Given the description of an element on the screen output the (x, y) to click on. 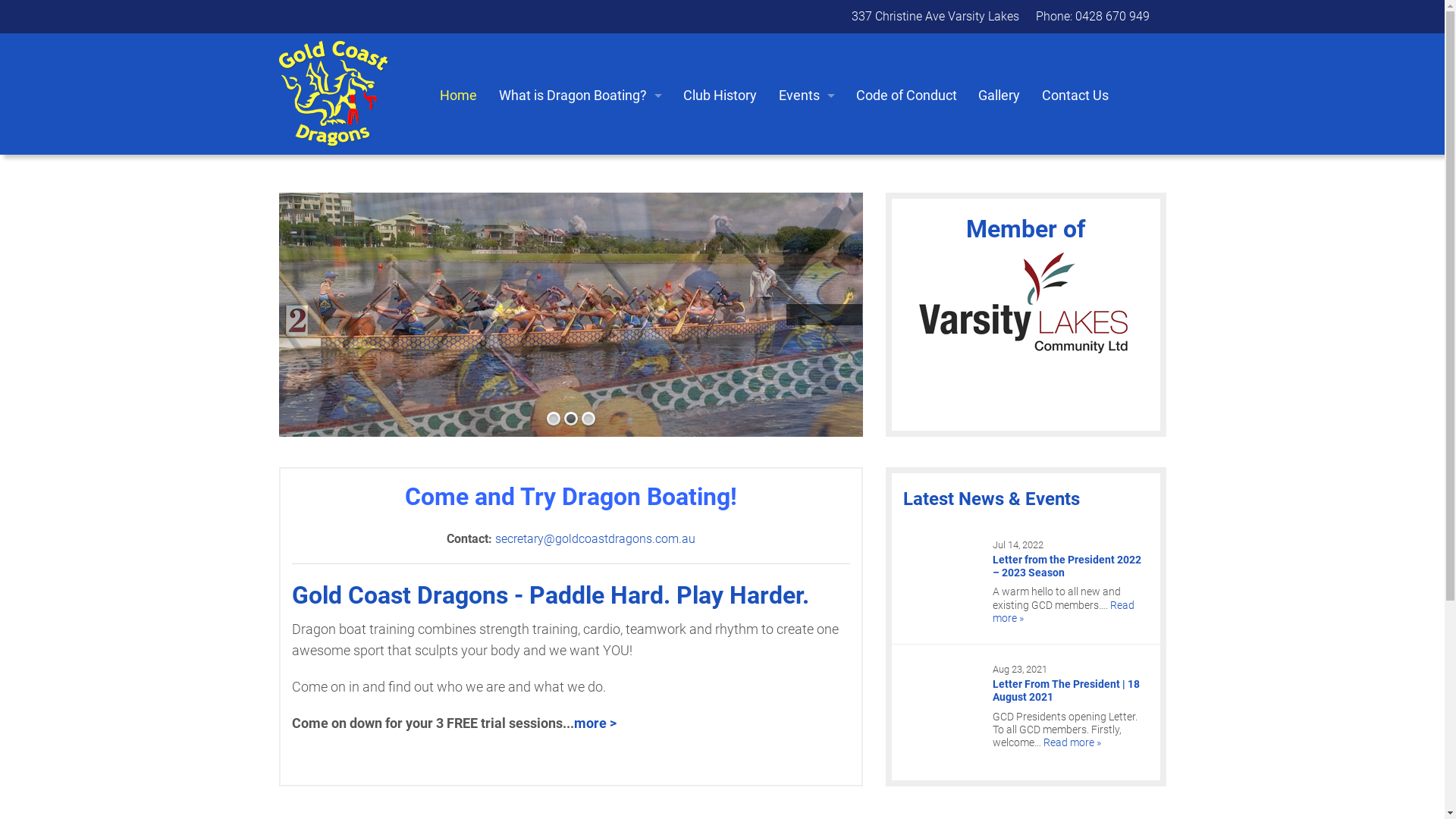
Club History Element type: text (720, 95)
Come & Try | Team Building Activities Element type: text (807, 165)
Gallery Element type: text (1000, 95)
Australian National Titles Element type: text (807, 235)
Who Are We? Element type: text (580, 165)
Associations Element type: text (580, 305)
Phone: 0428 670 949 Element type: text (1092, 16)
Where Are We? Element type: text (580, 200)
What Are We? Element type: text (580, 130)
Why? Element type: text (580, 235)
Contact Us Element type: text (1076, 95)
Code of Conduct Element type: text (907, 95)
Events Element type: text (807, 95)
Queensland State Titles Element type: text (807, 200)
How Much? How Hard? Element type: text (580, 270)
secretary@goldcoastdragons.com.au Element type: text (594, 538)
Home Element type: text (459, 95)
What is Dragon Boating? Element type: text (581, 95)
more > Element type: text (594, 723)
Calendar of Events 2022/2023 Element type: text (807, 130)
Pan Pacific Masters Games 2022 | Dragon Boat Events Element type: text (807, 270)
Letter From The President | 18 August 2021 Element type: text (1065, 690)
